Given the description of an element on the screen output the (x, y) to click on. 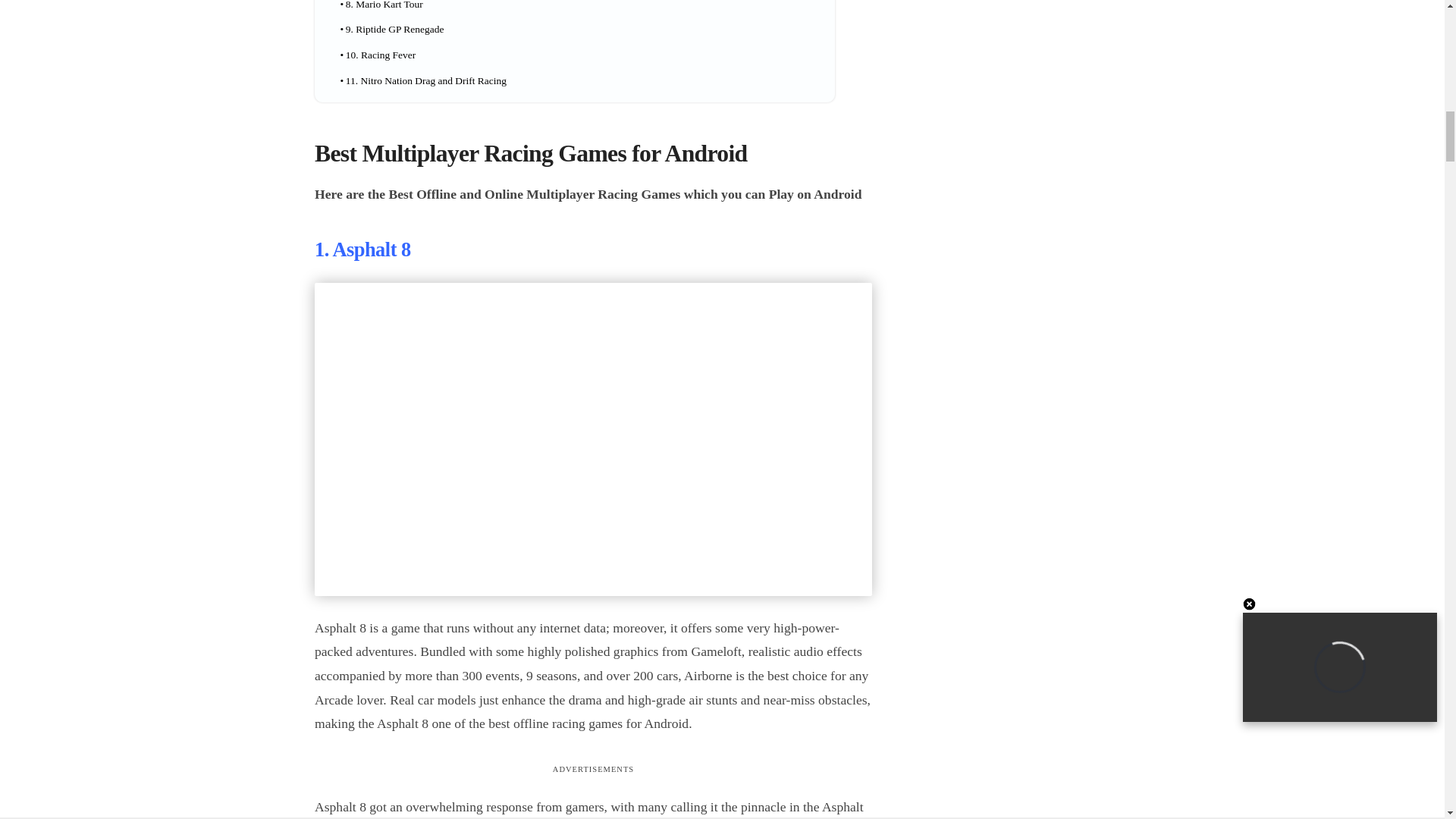
8. Mario Kart Tour (380, 8)
